Given the description of an element on the screen output the (x, y) to click on. 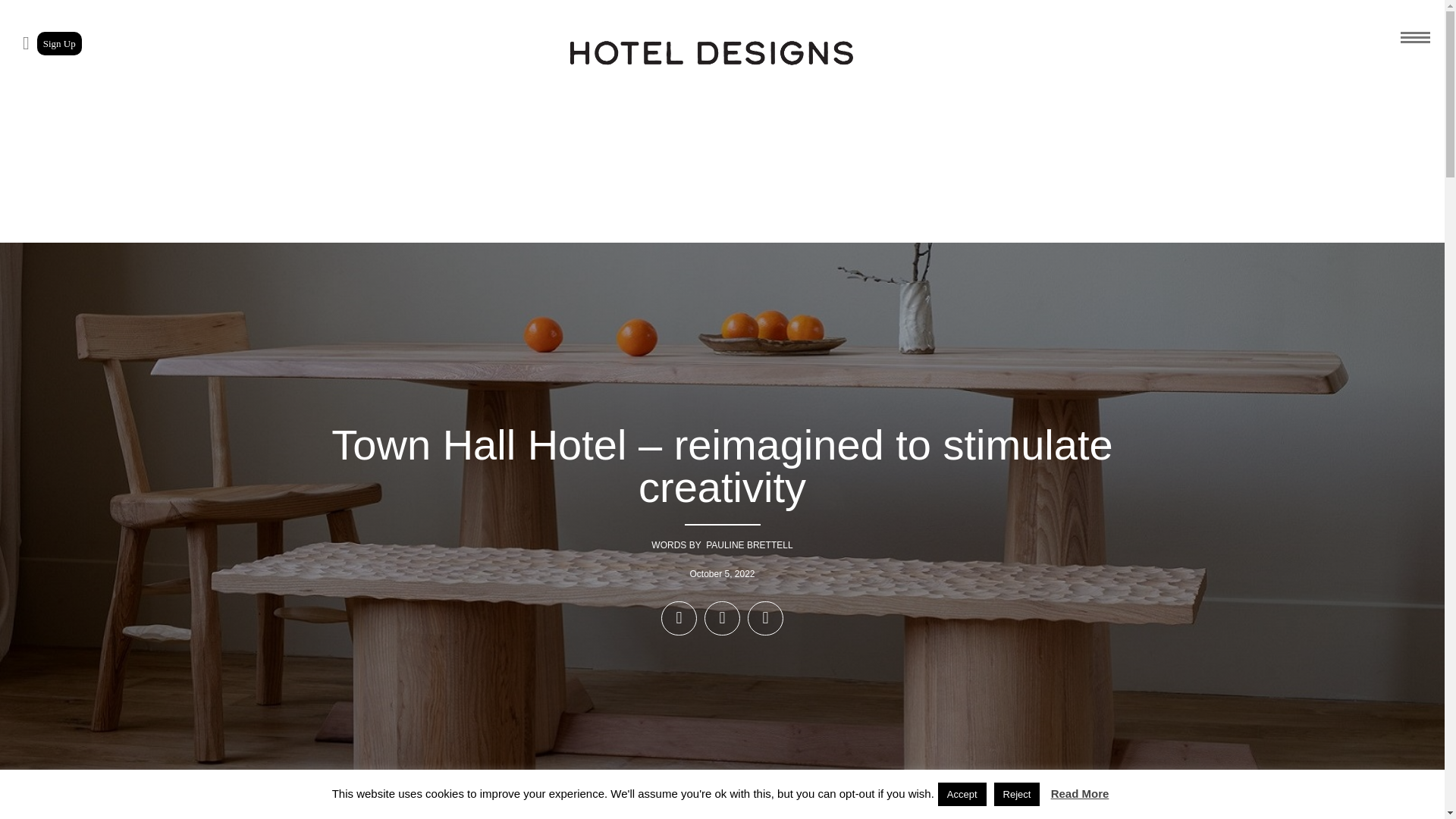
Hotel Designs (711, 52)
Sign Up (59, 43)
